Given the description of an element on the screen output the (x, y) to click on. 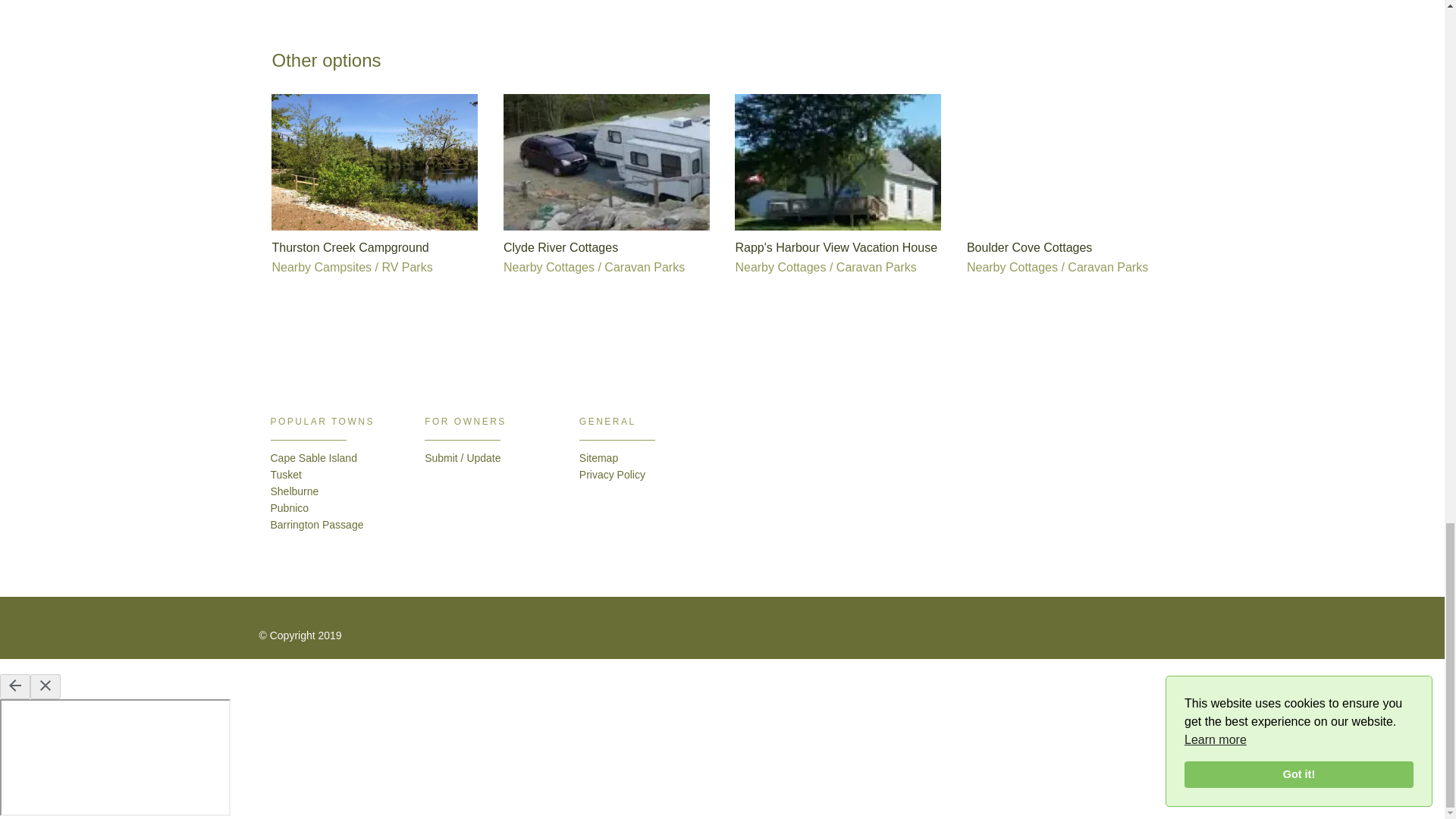
Shelburne (293, 491)
Pubnico (288, 508)
Boulder Cove Cottages (1029, 246)
Sitemap (598, 458)
Barrington Passage (315, 524)
Privacy Policy (612, 474)
Clyde River Cottages (560, 246)
Thurston Creek Campground (349, 246)
Cape Sable Island (312, 458)
Rapp's Harbour View Vacation House (836, 246)
Tusket (285, 474)
